Given the description of an element on the screen output the (x, y) to click on. 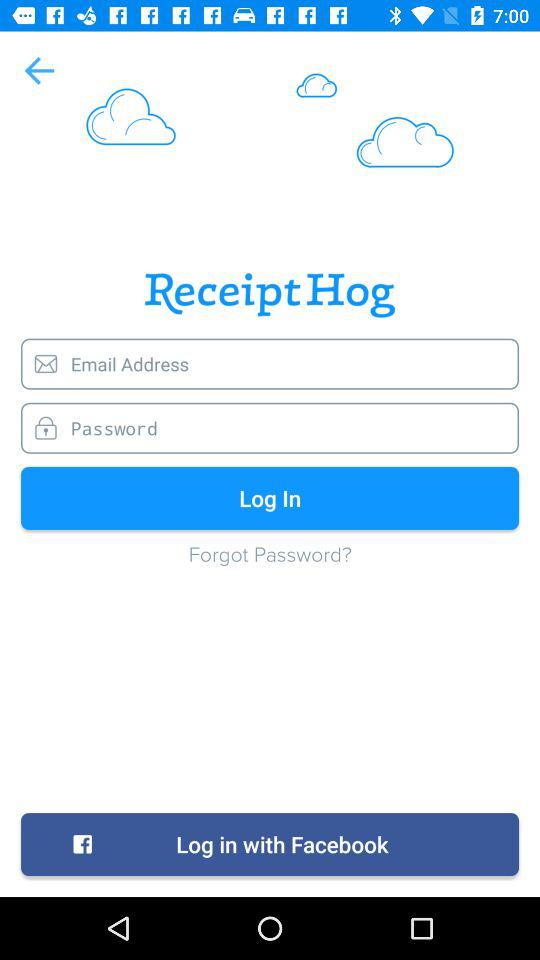
tap icon at the top left corner (38, 70)
